Given the description of an element on the screen output the (x, y) to click on. 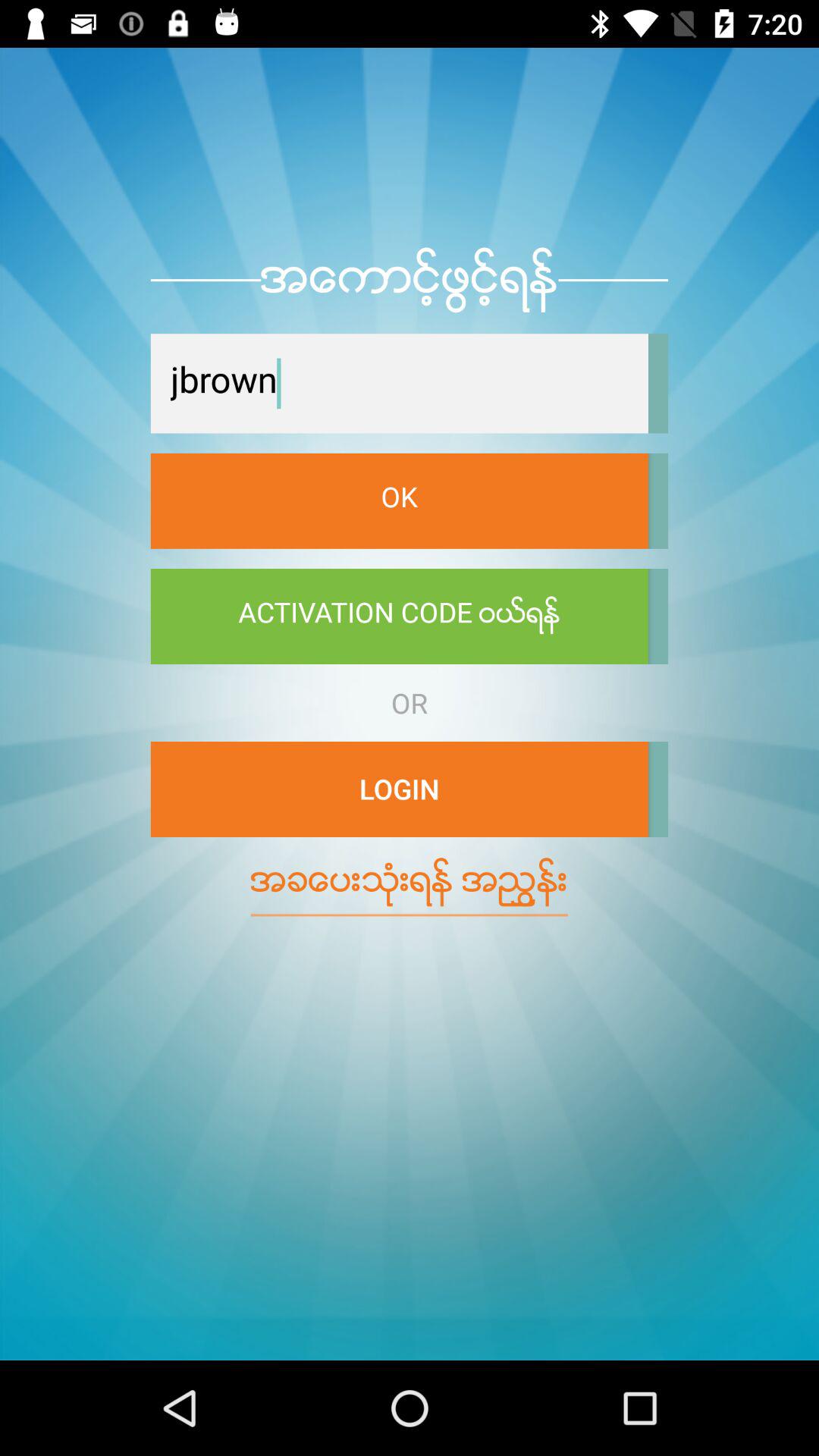
launch the item below jbrown (399, 500)
